Given the description of an element on the screen output the (x, y) to click on. 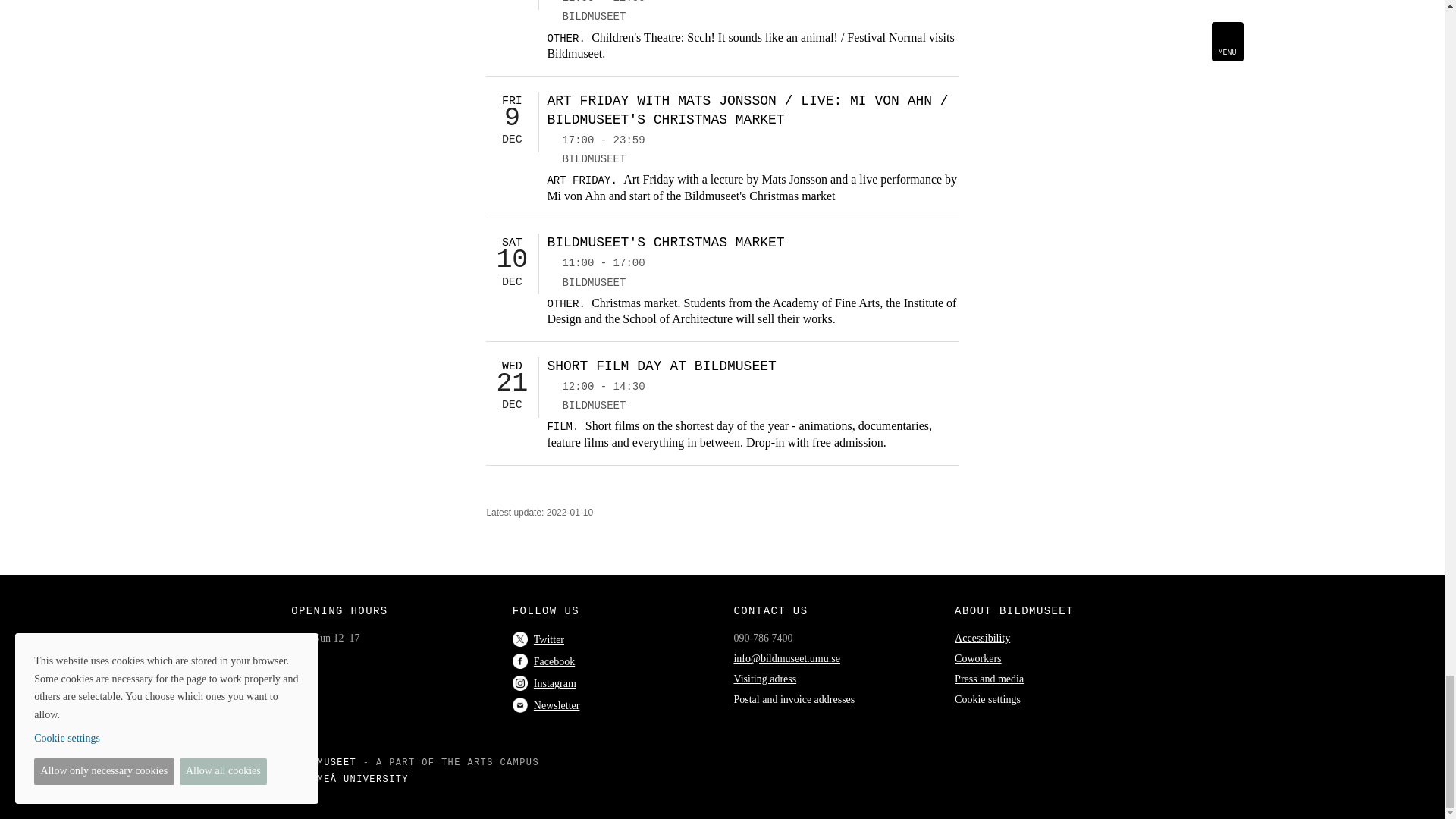
Twitter (538, 639)
